Given the description of an element on the screen output the (x, y) to click on. 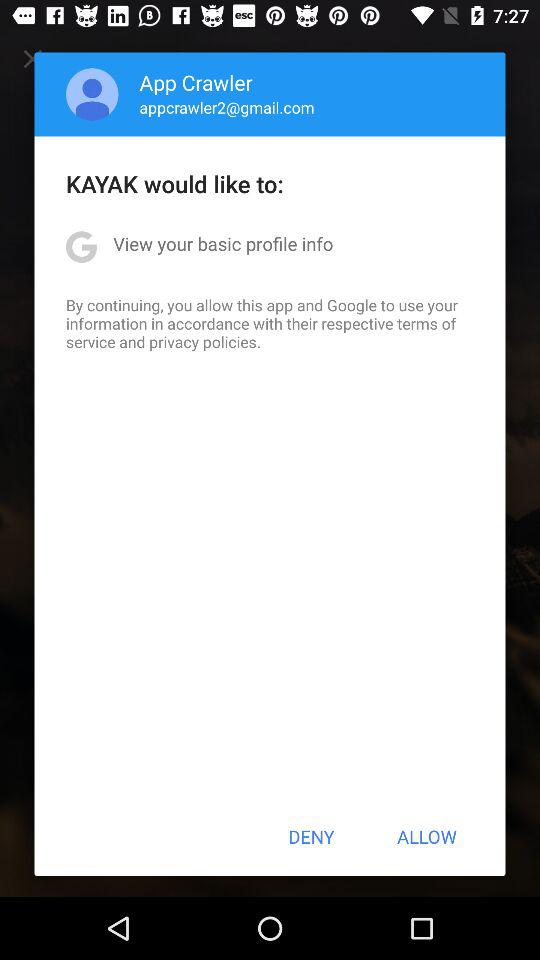
jump until the appcrawler2@gmail.com item (226, 107)
